Given the description of an element on the screen output the (x, y) to click on. 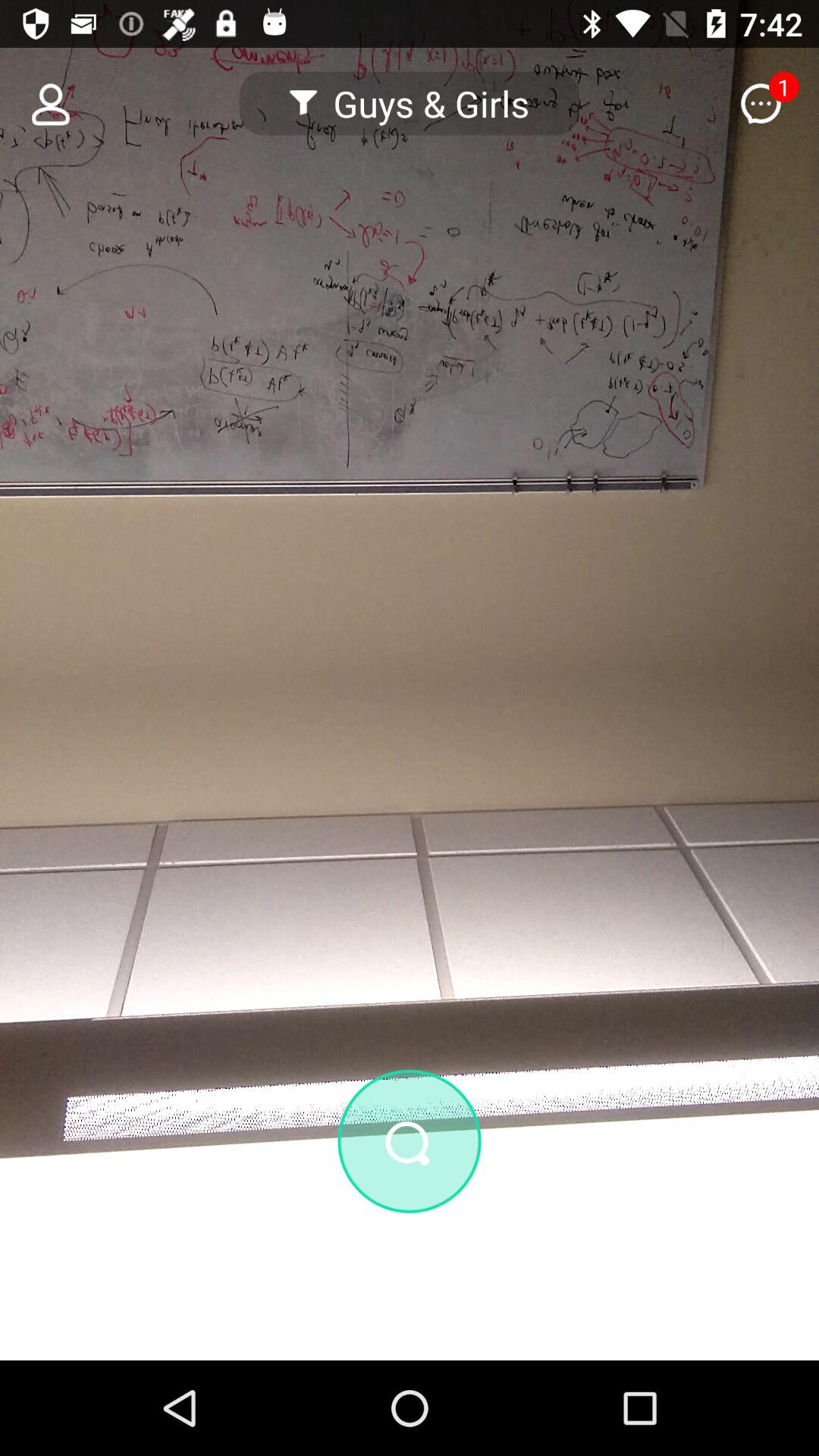
choose item below the guys & girls icon (409, 1141)
